Given the description of an element on the screen output the (x, y) to click on. 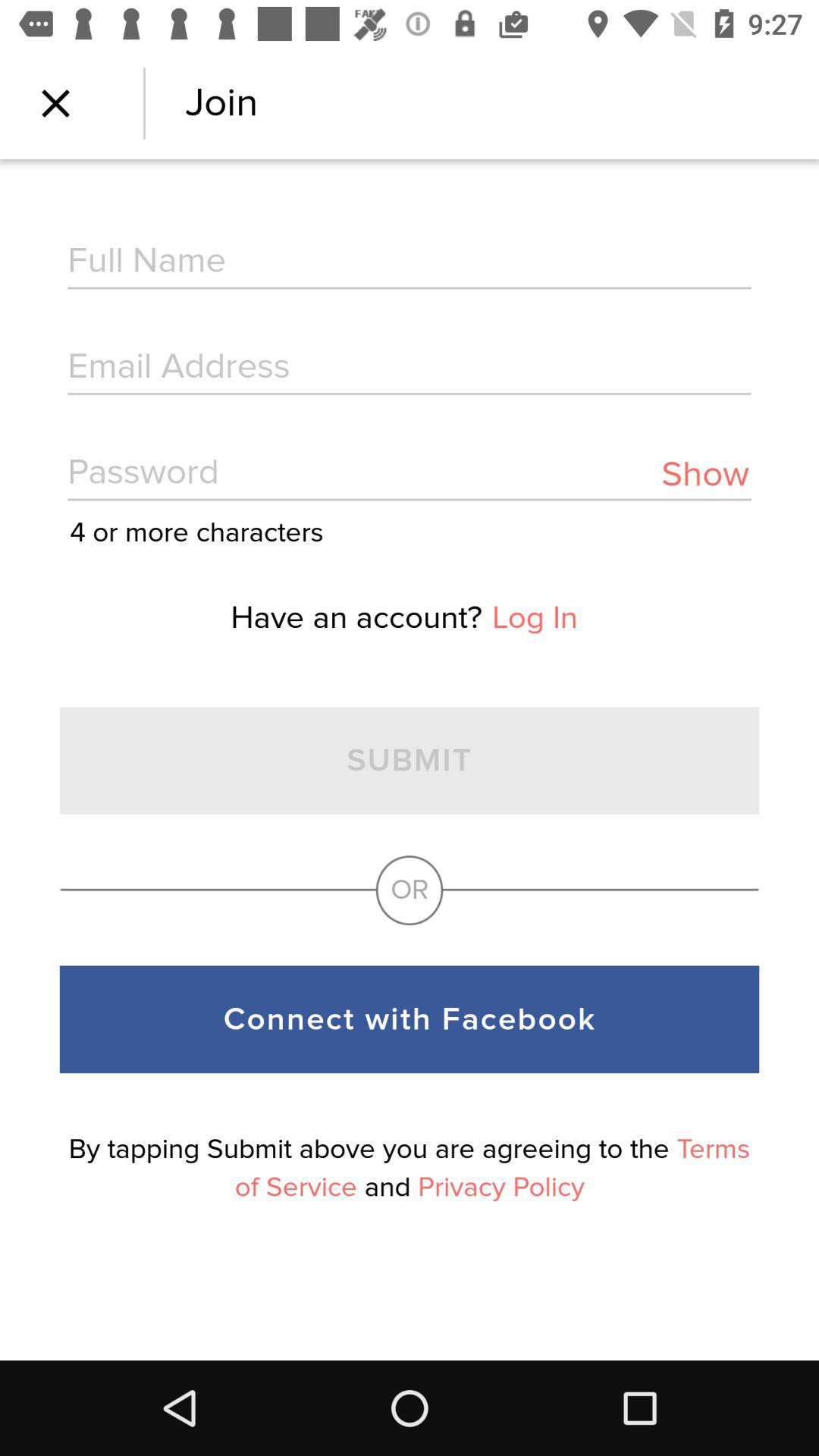
jump until the log in item (535, 618)
